Given the description of an element on the screen output the (x, y) to click on. 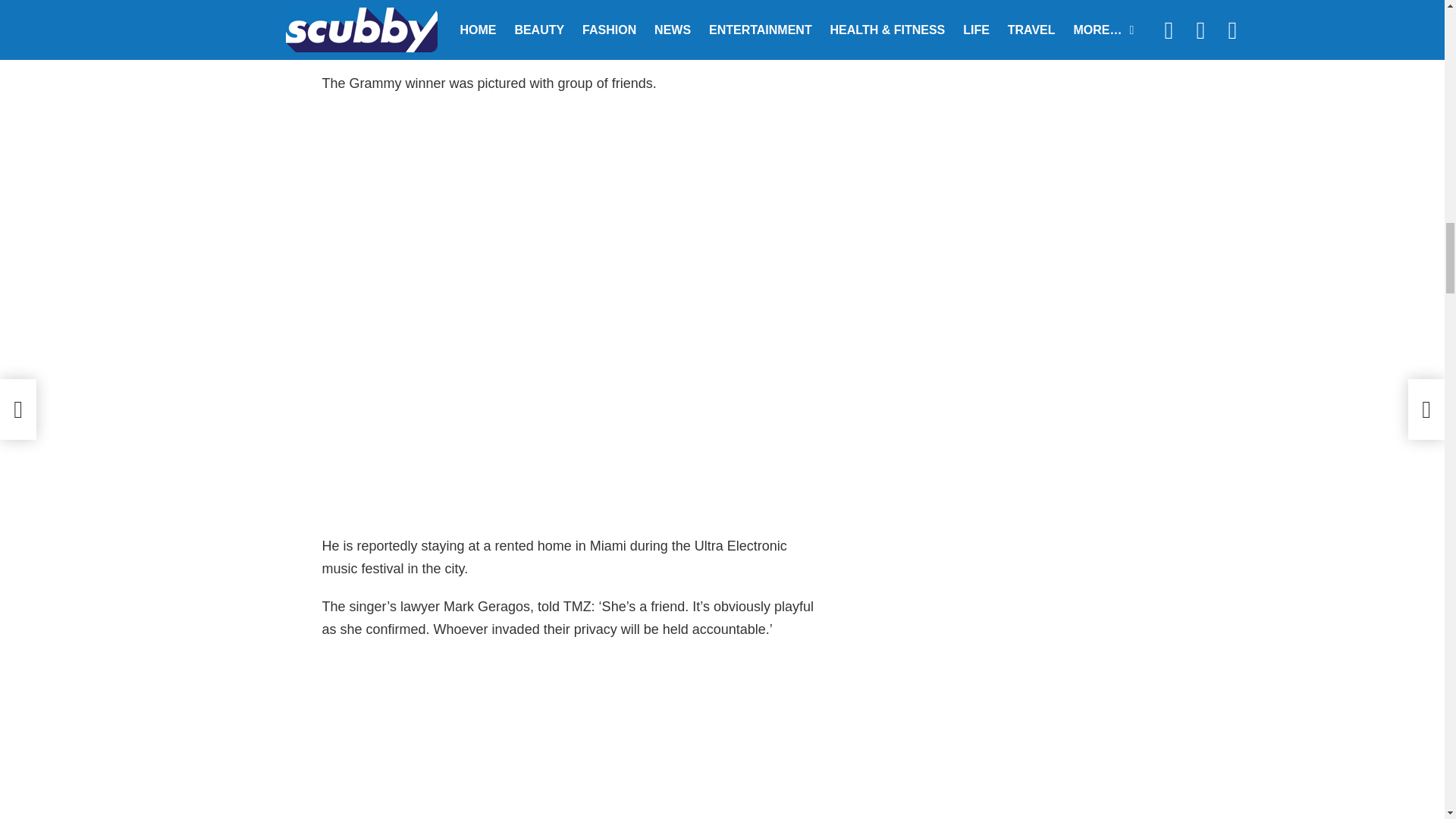
TMZ (415, 45)
